Given the description of an element on the screen output the (x, y) to click on. 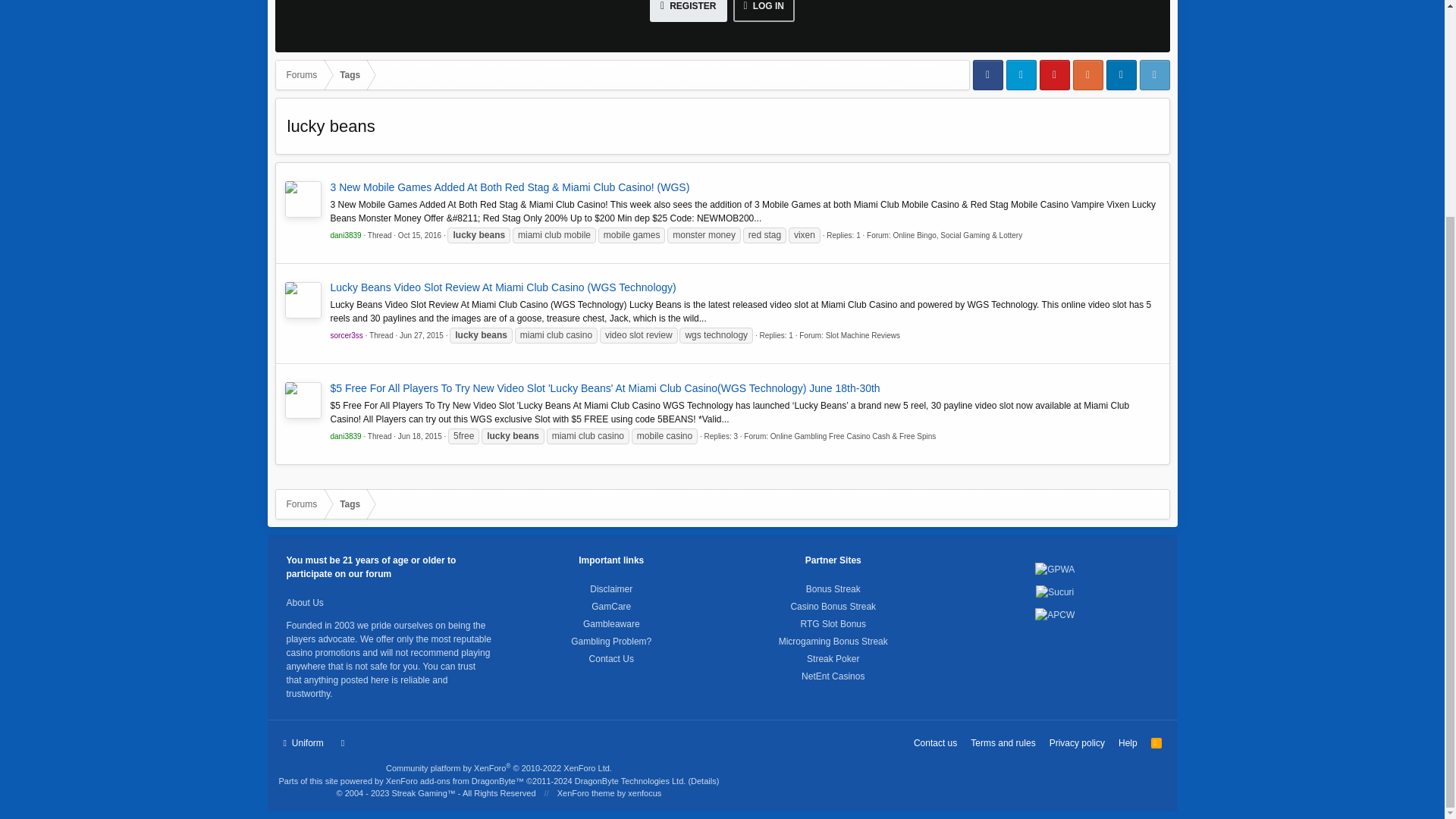
Jun 27, 2015 at 8:00 AM (421, 335)
REGISTER (687, 11)
Jun 18, 2015 at 7:18 AM (419, 436)
Oct 15, 2016 at 1:21 PM (419, 234)
LOG IN (762, 11)
Forums (302, 74)
Style chooser (304, 743)
